Given the description of an element on the screen output the (x, y) to click on. 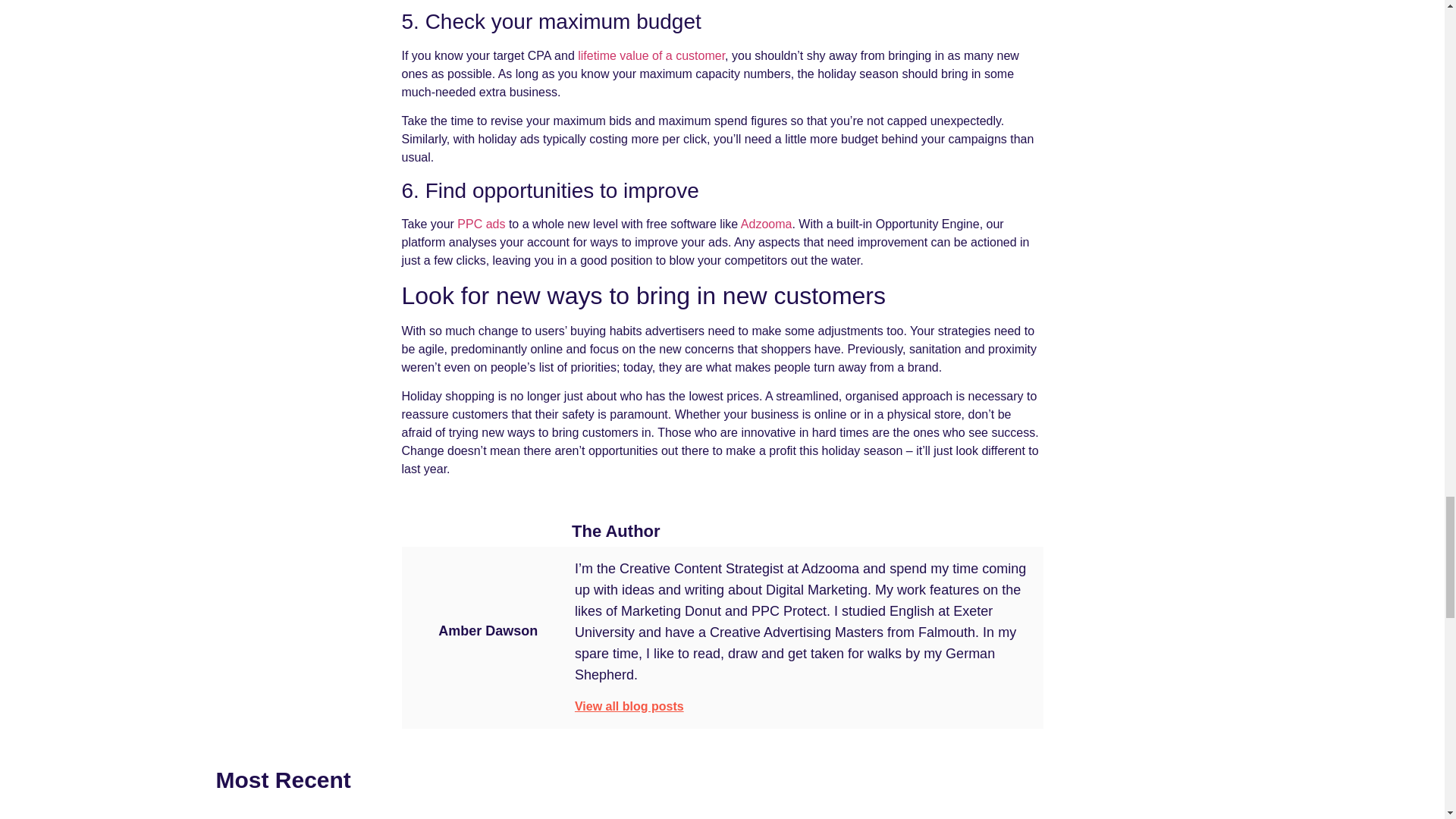
lifetime value of a customer (651, 55)
PPC ads (481, 223)
Adzooma (766, 223)
